Given the description of an element on the screen output the (x, y) to click on. 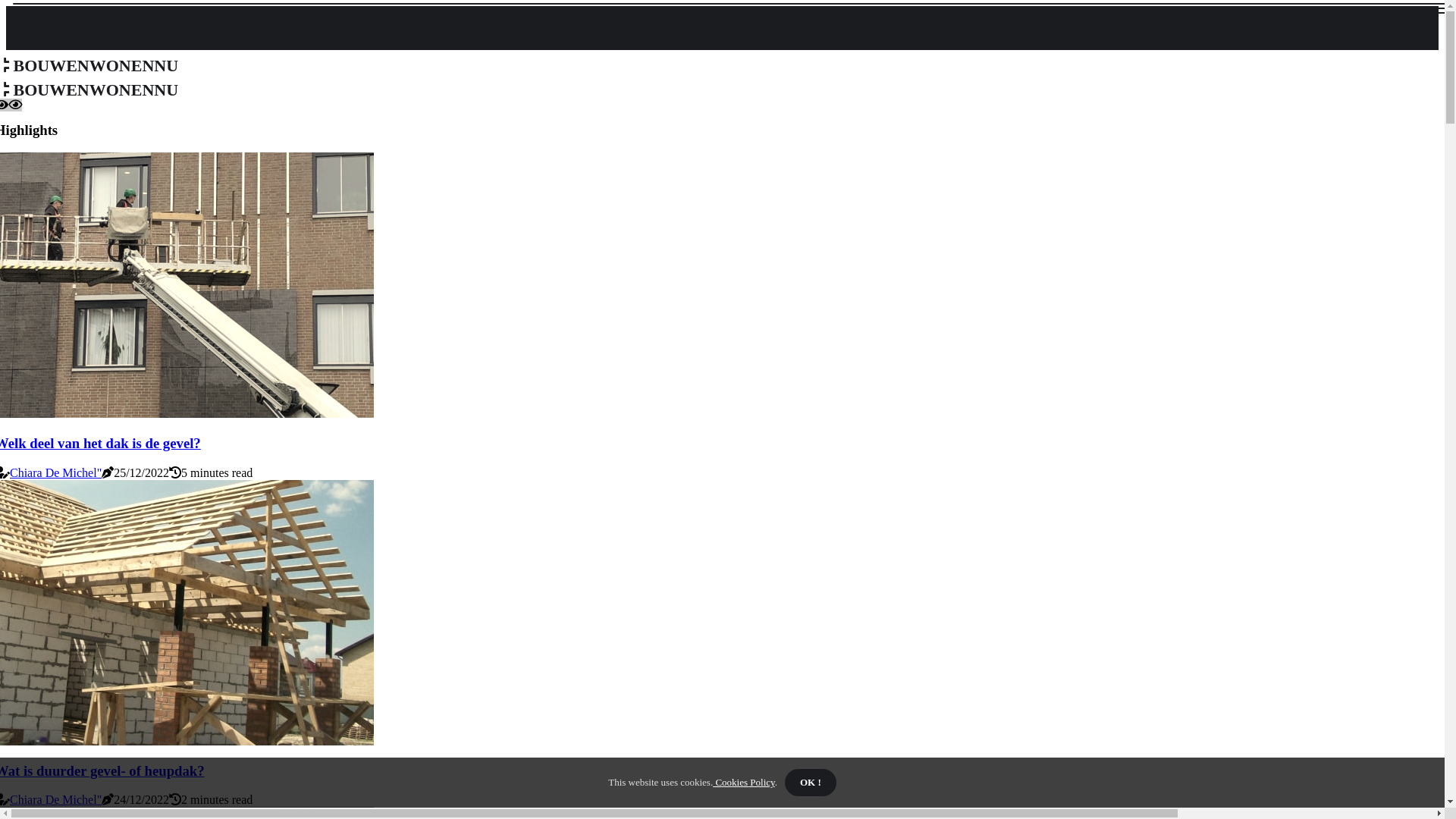
Cookies Policy Element type: text (743, 781)
Chiara De Michel" Element type: text (55, 472)
Chiara De Michel" Element type: text (55, 799)
